Given the description of an element on the screen output the (x, y) to click on. 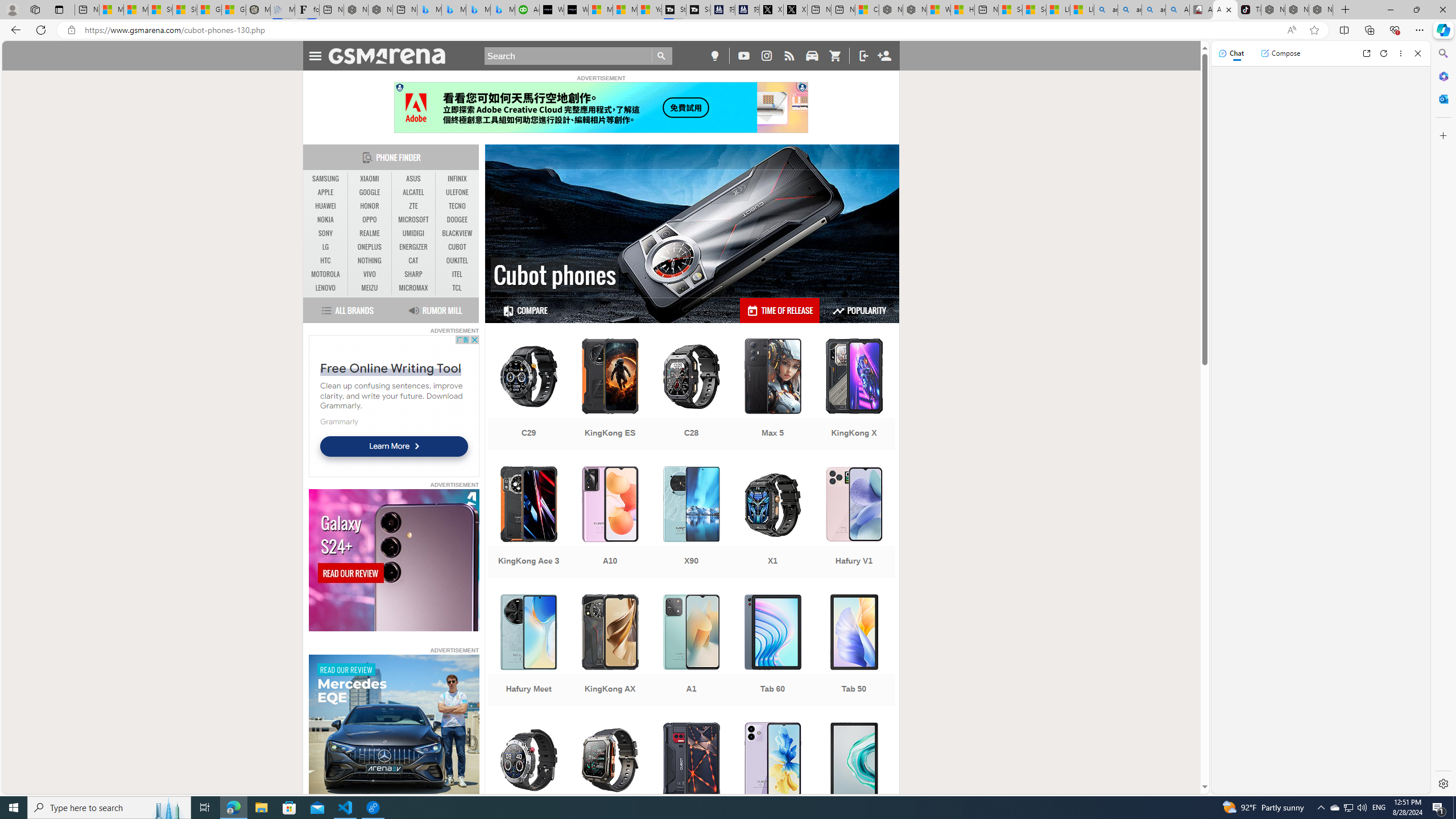
ZTE (413, 206)
X90 (691, 523)
LENOVO (325, 287)
Amazon Echo Robot - Search Images (1176, 9)
C29 (528, 395)
SHARP (413, 273)
MOTOROLA (325, 273)
ALCATEL (413, 192)
INFINIX (457, 178)
